Given the description of an element on the screen output the (x, y) to click on. 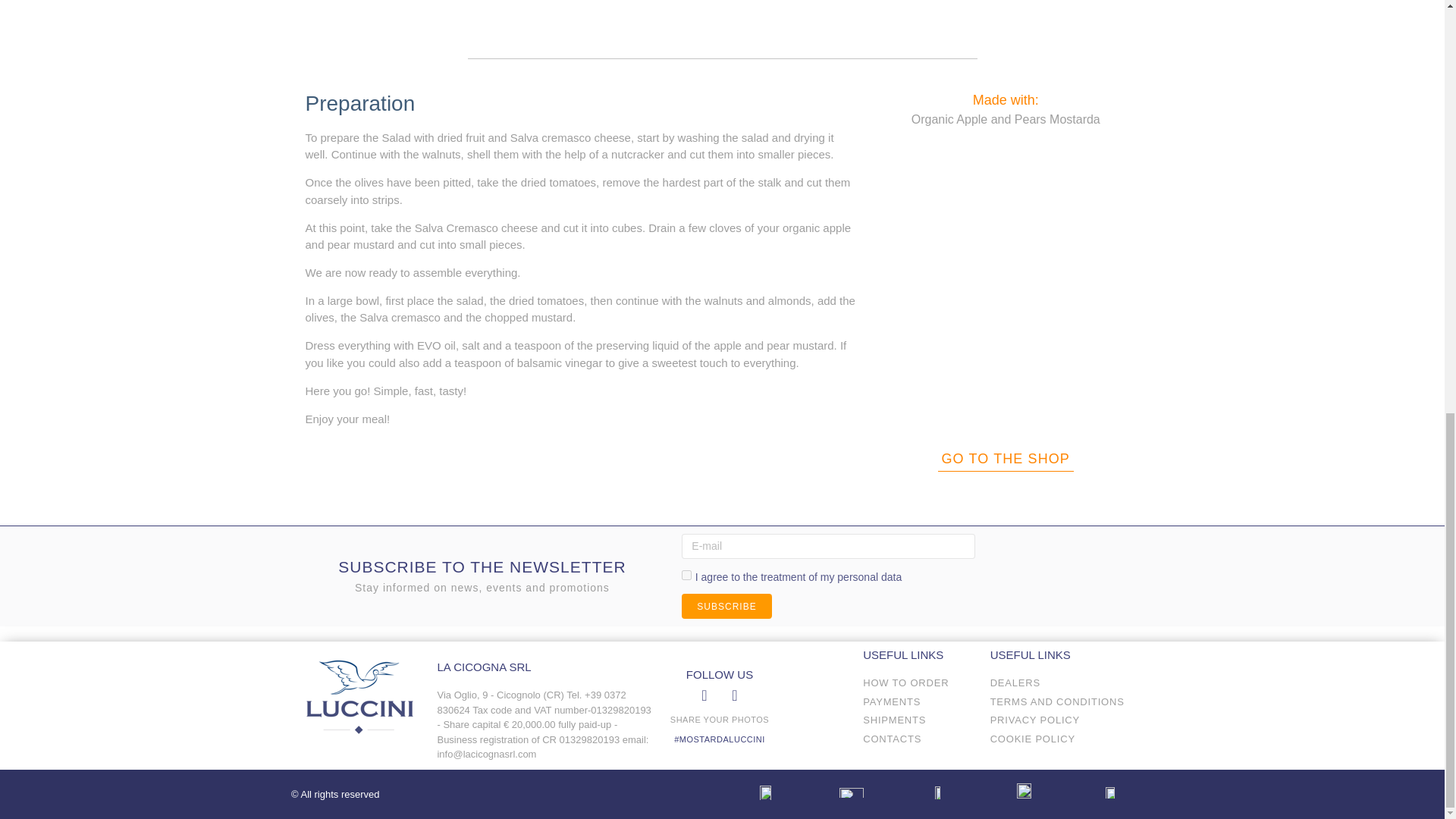
7. MelePere240 (1005, 284)
PRIVACY POLICY (1059, 720)
TERMS AND CONDITIONS (1059, 702)
SHIPMENTS (918, 720)
on (686, 574)
SUBSCRIBE (726, 606)
COOKIE POLICY (1059, 739)
PAYMENTS (918, 702)
HOW TO ORDER (918, 683)
DEALERS (1059, 683)
